Given the description of an element on the screen output the (x, y) to click on. 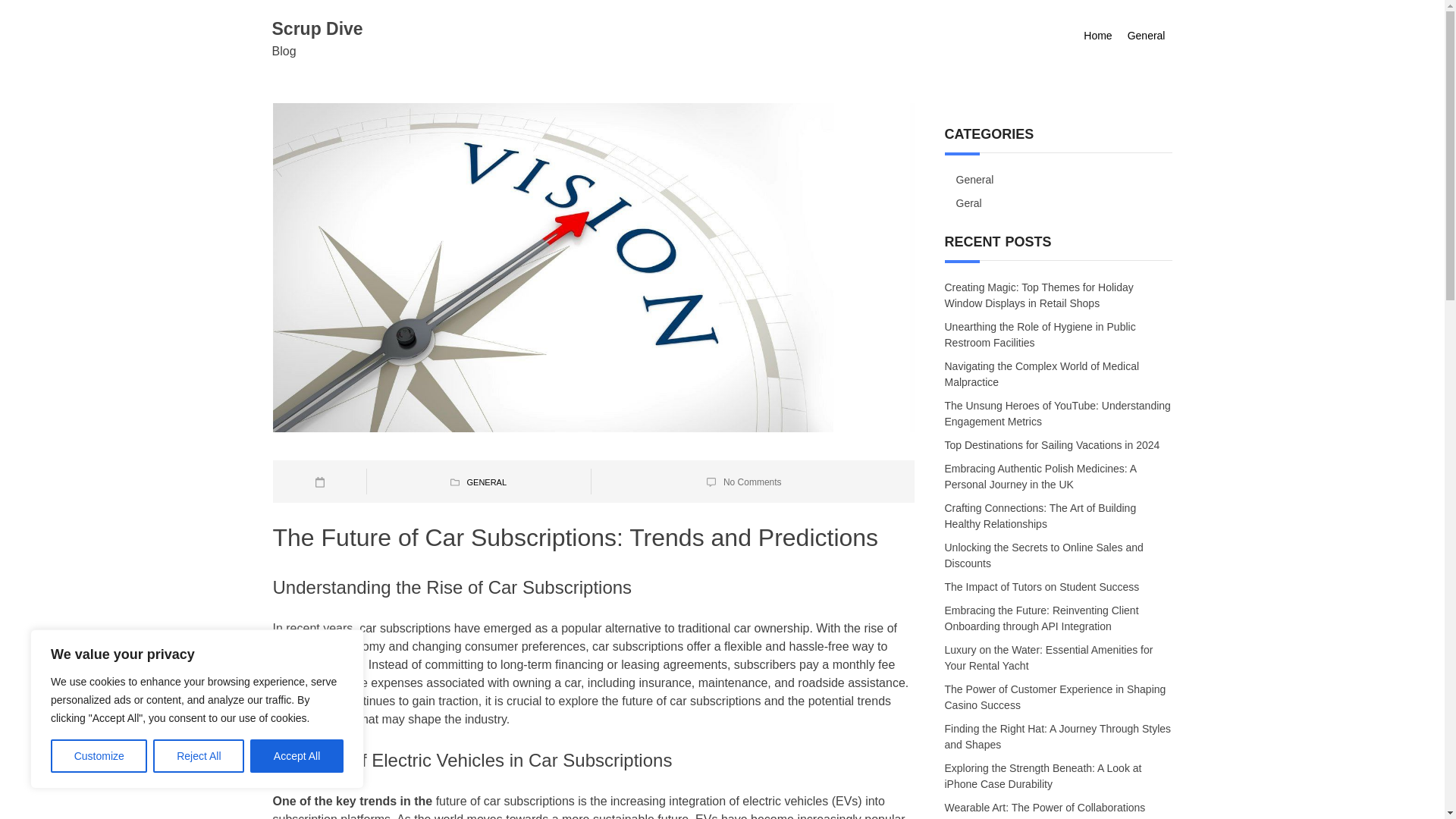
Reject All (198, 756)
Accept All (296, 756)
Unlocking the Secrets to Online Sales and Discounts (1043, 556)
General (974, 179)
No Comments (752, 481)
Geral (968, 203)
Navigating the Complex World of Medical Malpractice (1042, 373)
